Given the description of an element on the screen output the (x, y) to click on. 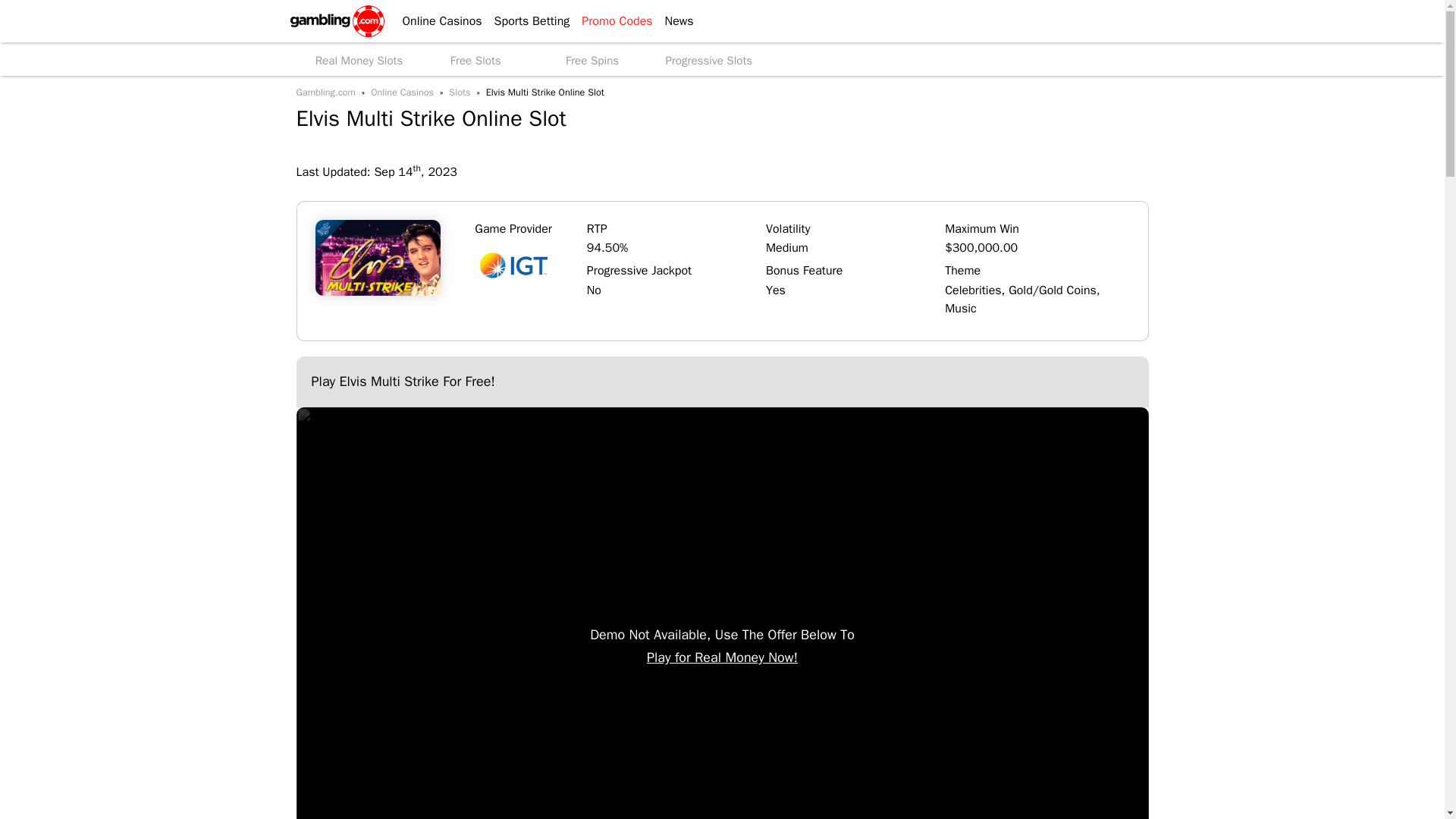
Real Money Slots Free Slots Free Spins Progressive Slots (721, 59)
Sports Betting (525, 21)
Online Casinos (435, 21)
Real Money Slots Free Slots Free Spins Progressive Slots (721, 59)
